Given the description of an element on the screen output the (x, y) to click on. 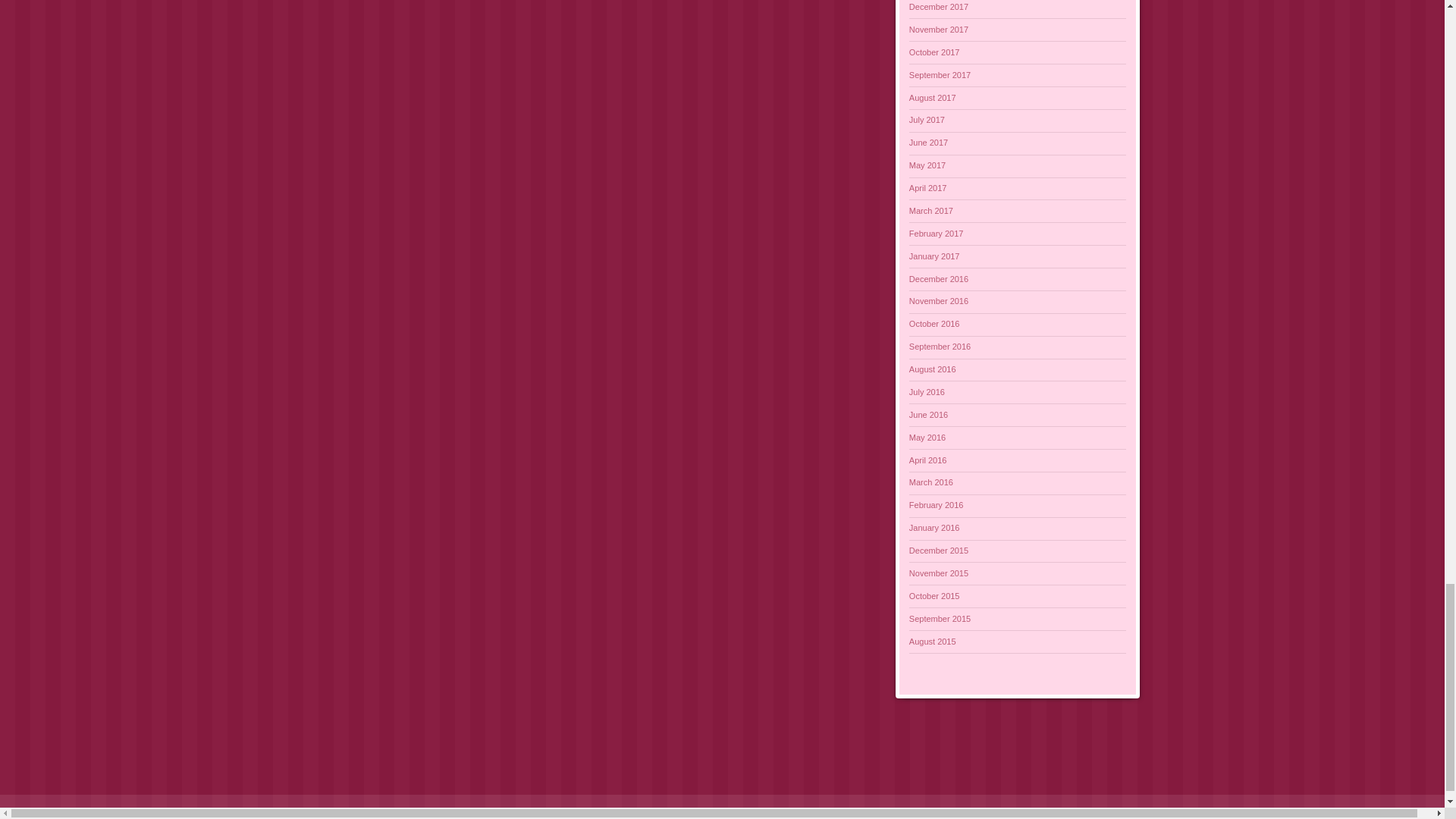
Semantic Personal Publishing Platform (108, 810)
